Given the description of an element on the screen output the (x, y) to click on. 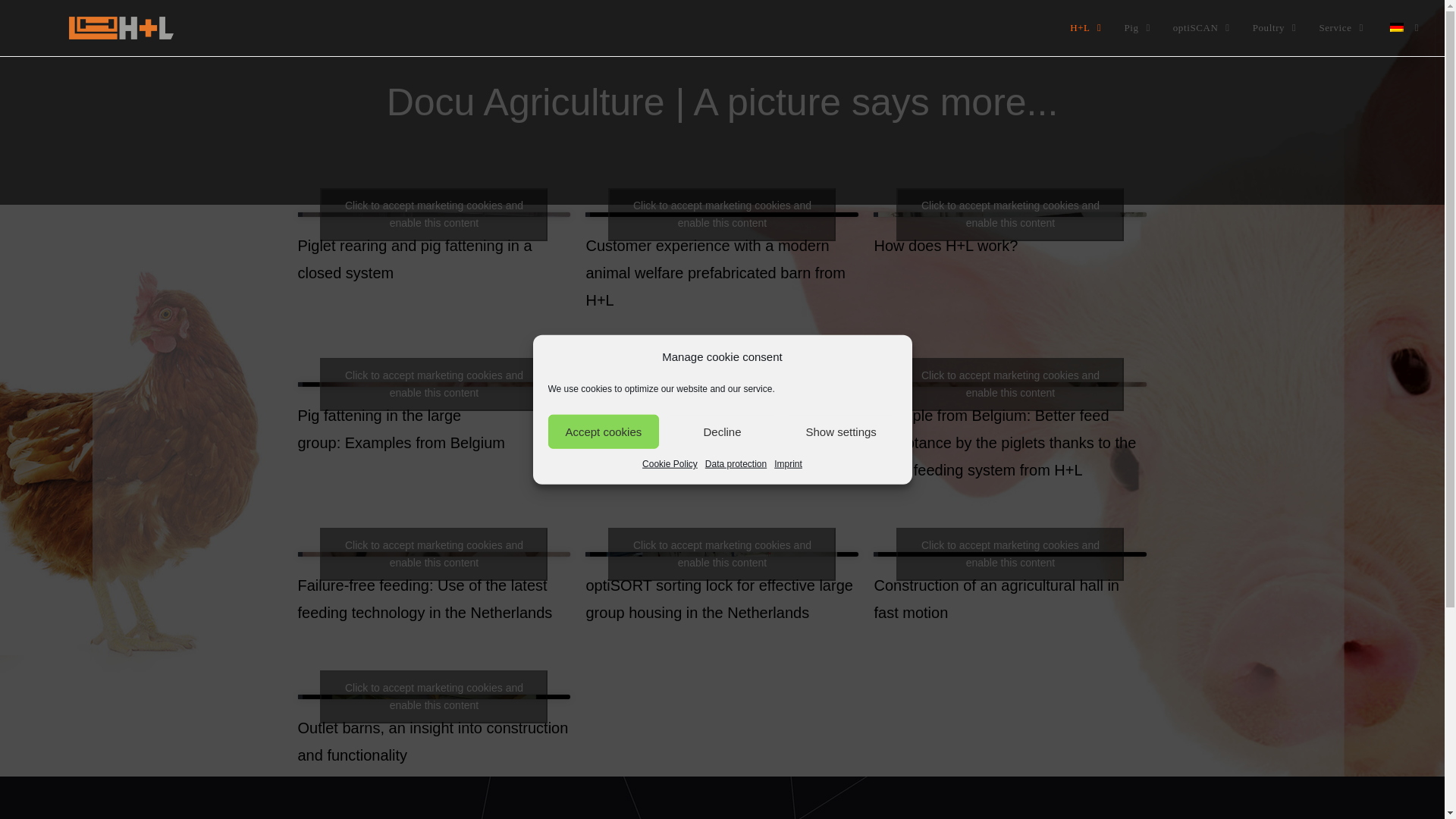
Data protection (735, 464)
German (1396, 26)
Decline (721, 431)
Imprint (788, 464)
Cookie Policy (669, 464)
Show settings (841, 431)
Poultry (1274, 28)
Accept cookies (603, 431)
optiSCAN (1201, 28)
Service (1340, 28)
